Given the description of an element on the screen output the (x, y) to click on. 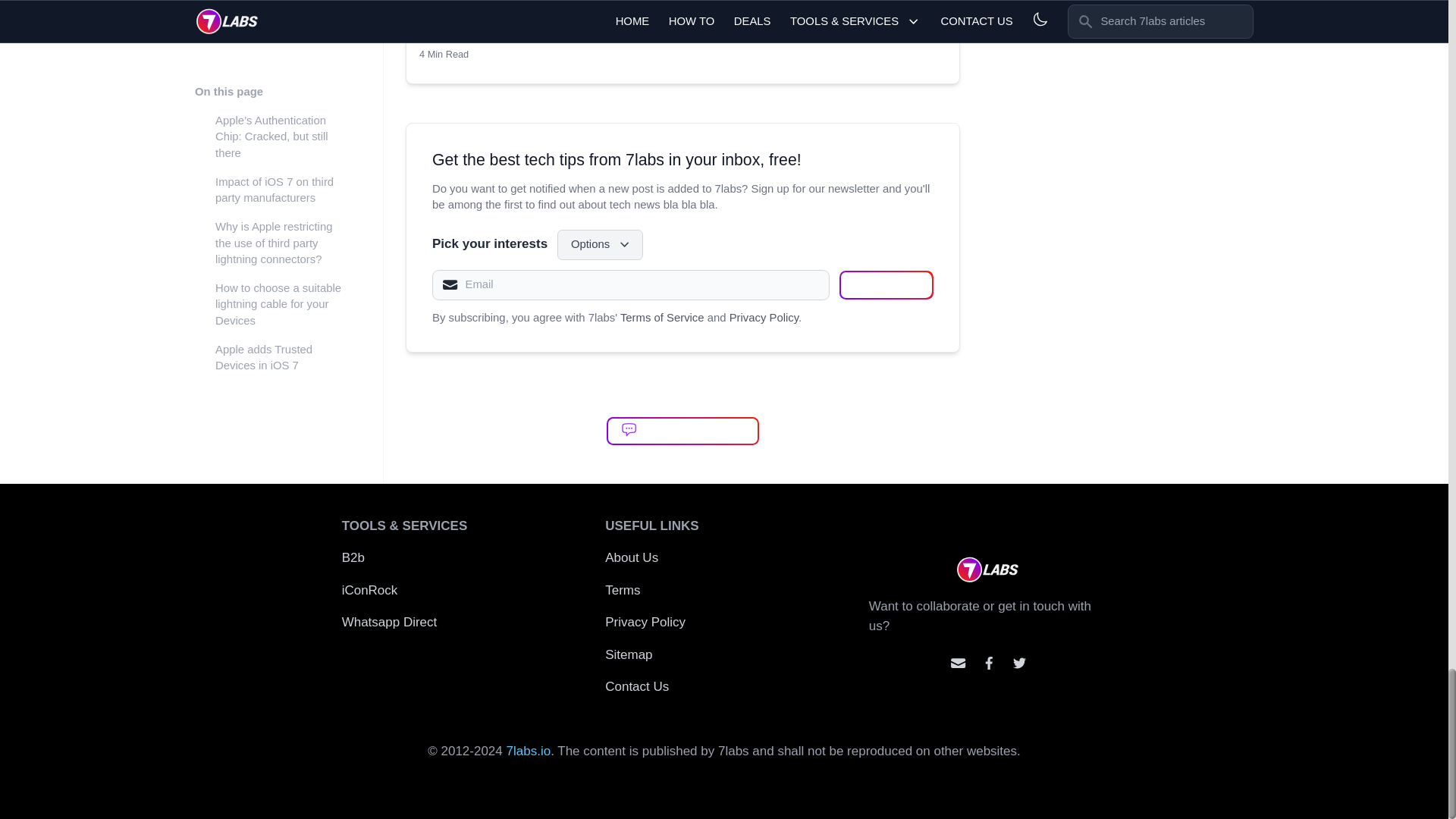
Terms of Service (662, 317)
Options (682, 7)
SUBSCRIBE (600, 245)
SHOW COMMENTS (886, 284)
Privacy Policy (682, 430)
